Given the description of an element on the screen output the (x, y) to click on. 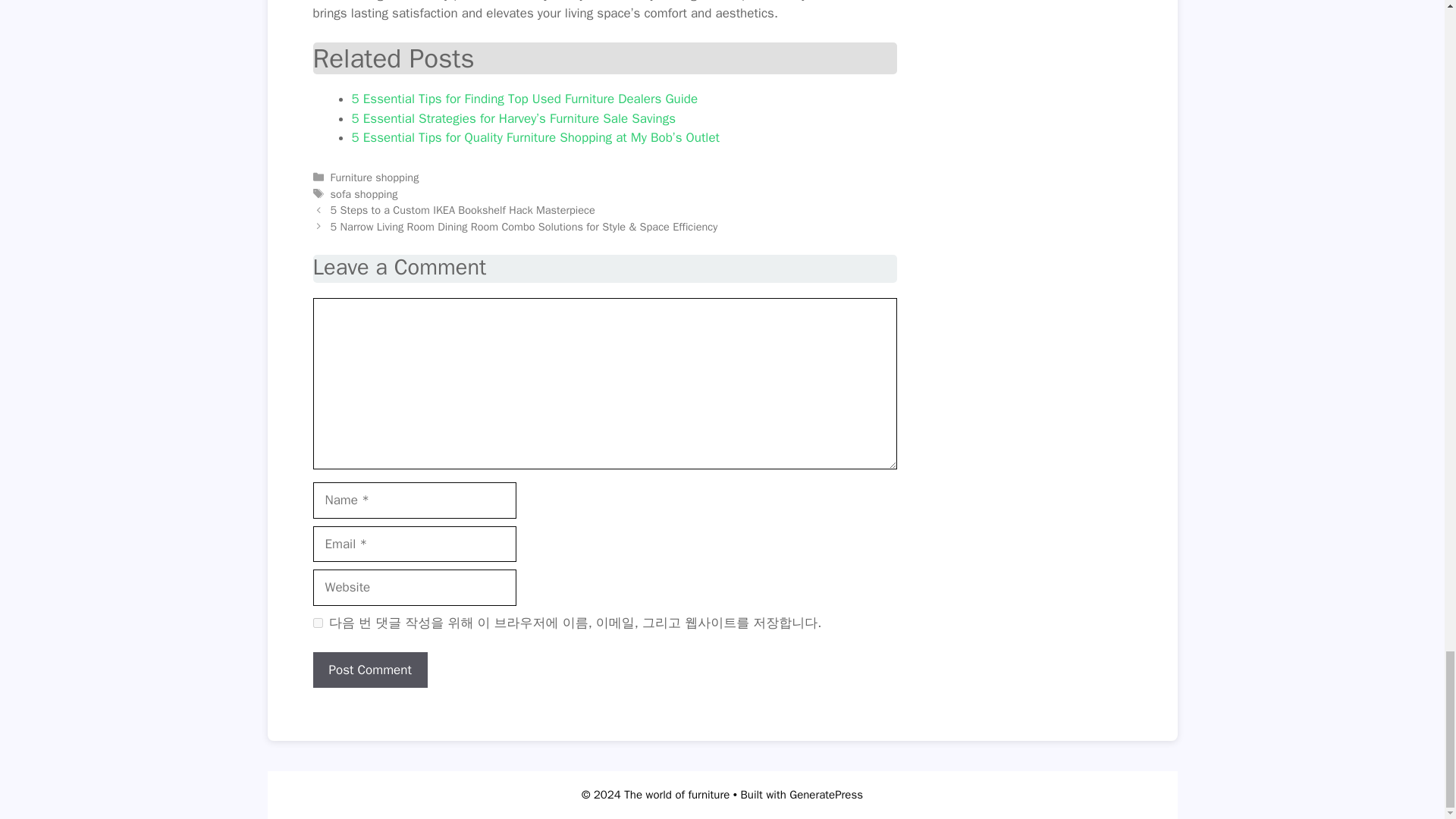
Post Comment (369, 669)
Post Comment (369, 669)
yes (317, 623)
Furniture shopping (374, 177)
sofa shopping (363, 193)
5 Steps to a Custom IKEA Bookshelf Hack Masterpiece (462, 210)
